Given the description of an element on the screen output the (x, y) to click on. 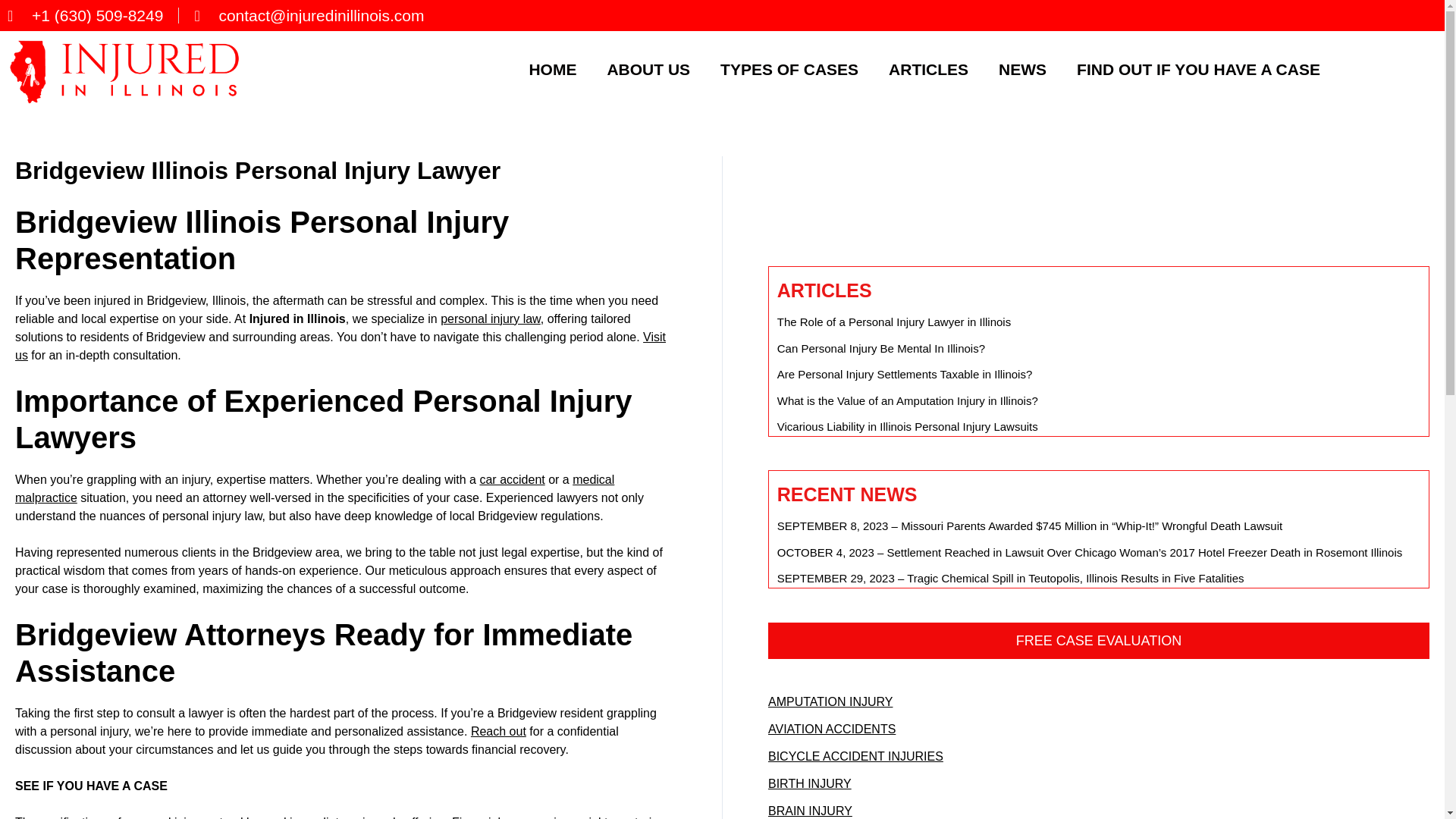
TYPES OF CASES (788, 68)
ARTICLES (928, 68)
HOME (552, 68)
NEWS (1022, 68)
ABOUT US (647, 68)
FIND OUT IF YOU HAVE A CASE (1198, 68)
